Given the description of an element on the screen output the (x, y) to click on. 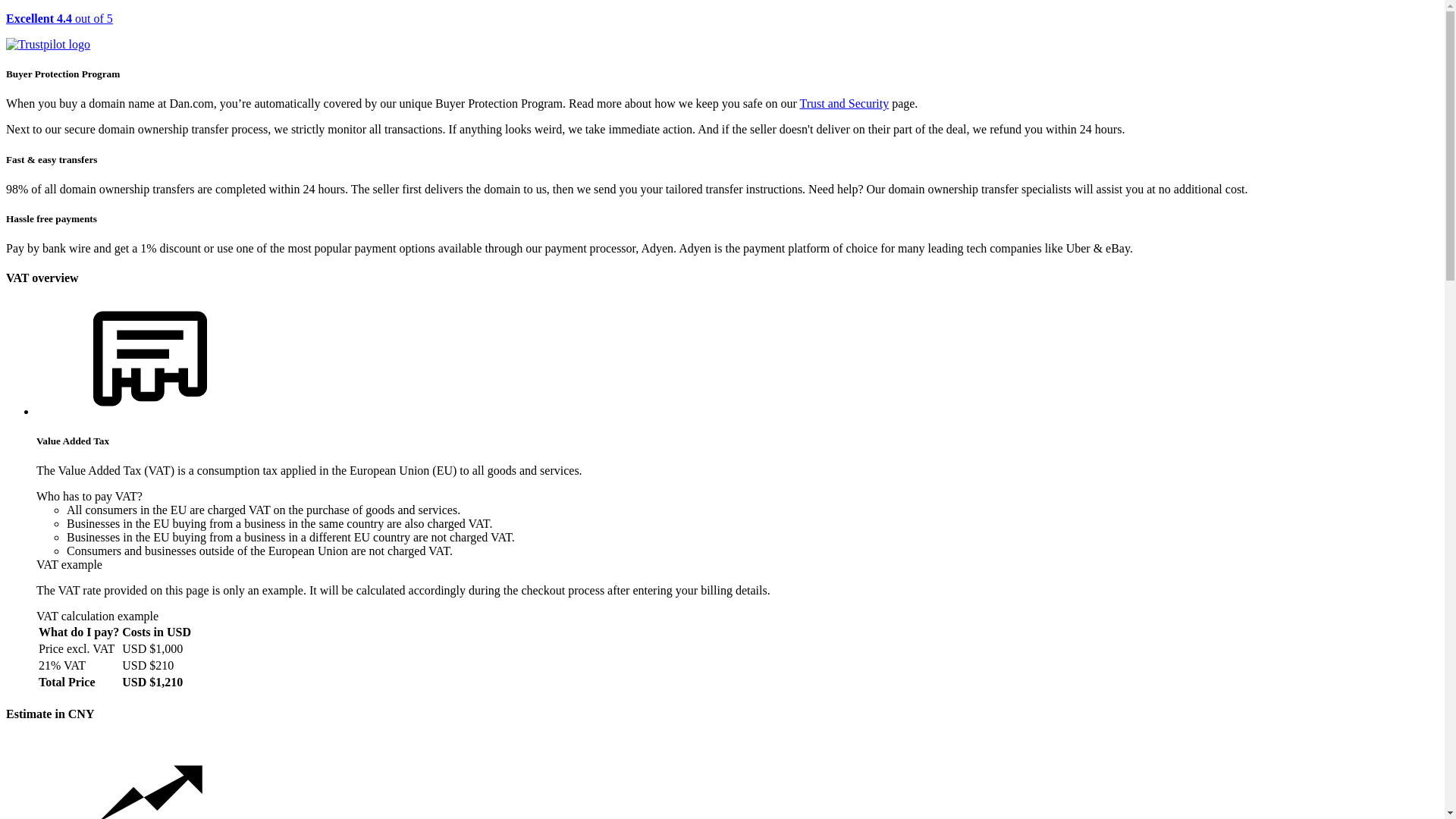
Excellent 4.4 out of 5 Element type: text (722, 31)
Trust and Security Element type: text (844, 103)
